Given the description of an element on the screen output the (x, y) to click on. 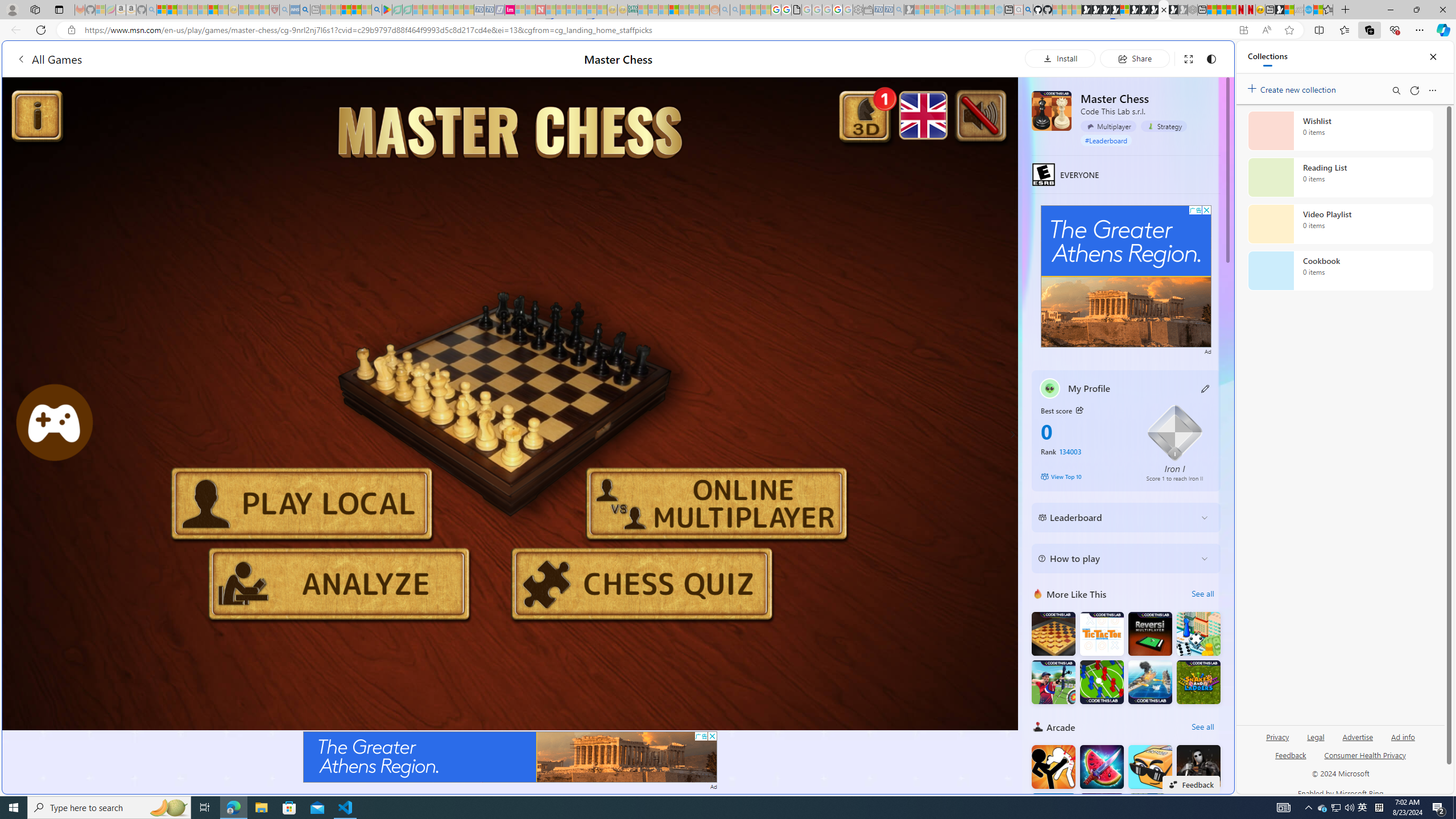
App available. Install Master Chess (1243, 29)
google_privacy_policy_zh-CN.pdf (1118, 683)
utah sues federal government - Search (922, 389)
